Given the description of an element on the screen output the (x, y) to click on. 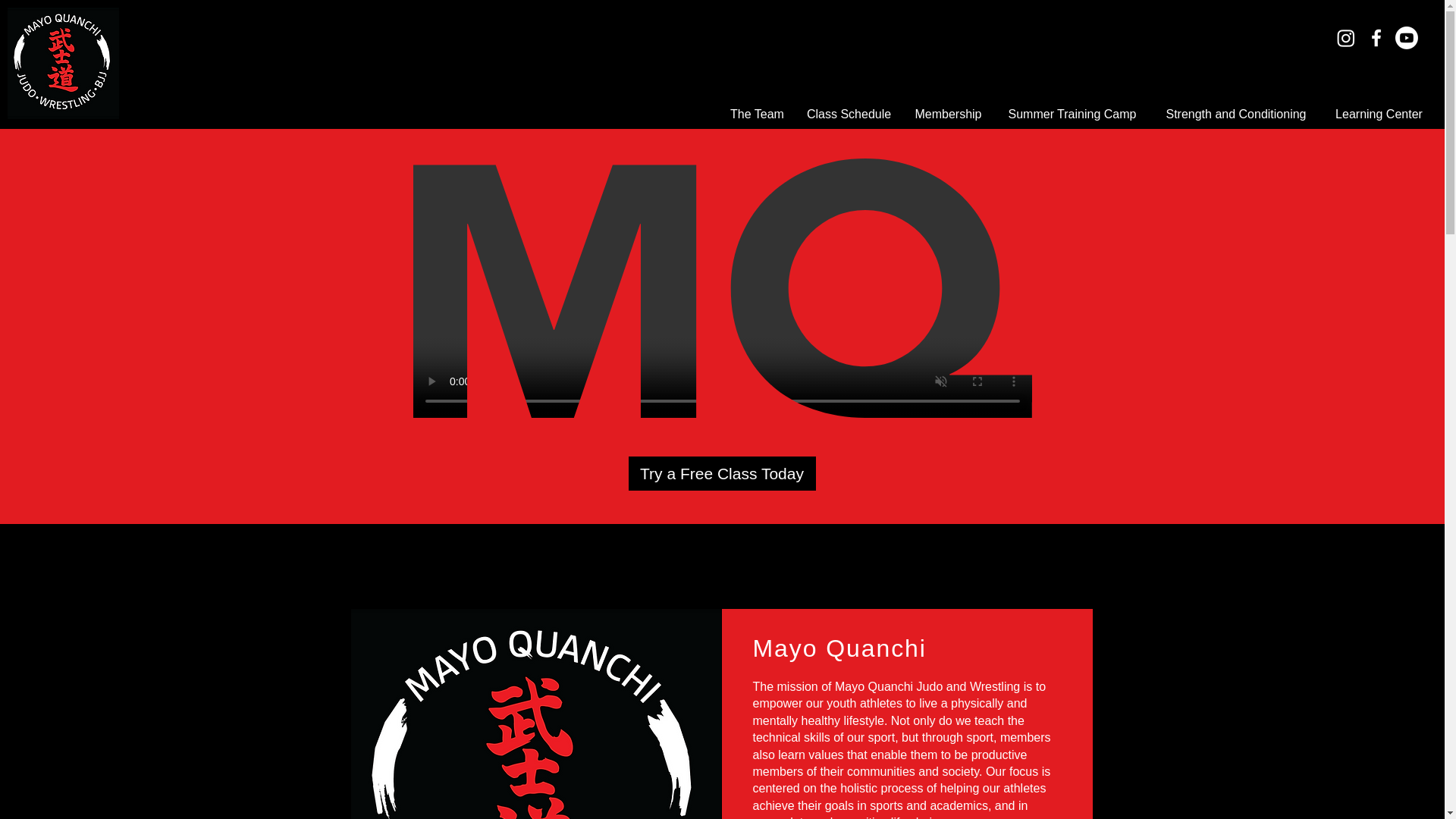
Learning Center (1378, 113)
The Team (756, 113)
Summer Training Camp (1072, 113)
Membership (947, 113)
Try a Free Class Today (721, 473)
Class Schedule (847, 113)
Strength and Conditioning (1236, 113)
